Given the description of an element on the screen output the (x, y) to click on. 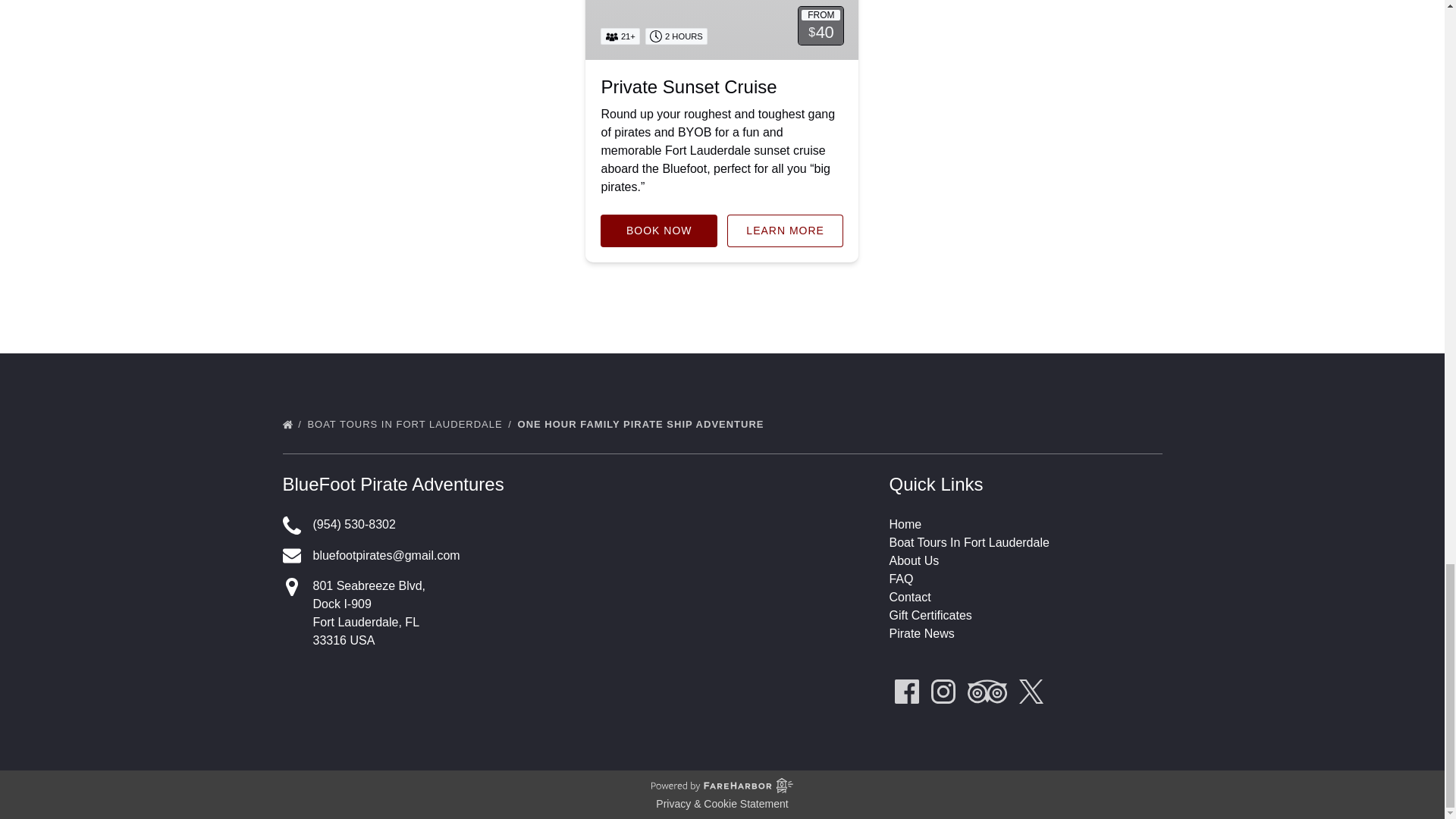
Envelope (290, 556)
Map Marker (290, 587)
Phone (290, 525)
